Given the description of an element on the screen output the (x, y) to click on. 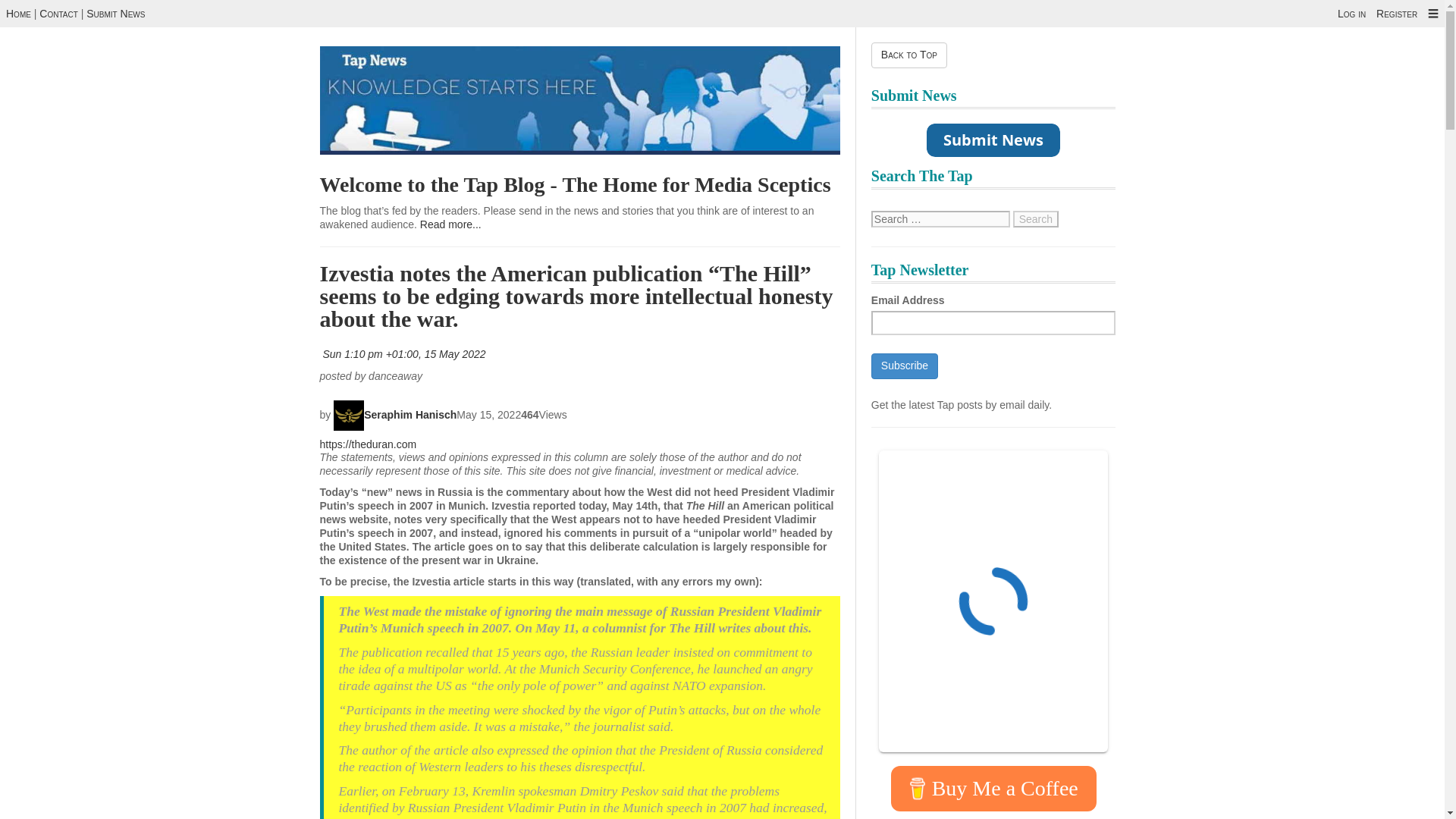
Posts by Seraphim Hanisch (395, 414)
Permanent Link to Welcome to The Tap Blog (575, 184)
Log in (1351, 13)
Search (1035, 218)
Back to Top (908, 54)
Contact (58, 13)
Register (1395, 13)
Home (17, 13)
Search (1035, 218)
Seraphim Hanisch (395, 414)
Contact Us (114, 13)
Read more... (450, 224)
Submit News (114, 13)
Home (17, 13)
Welcome to the Tap Blog - The Home for Media Sceptics (575, 184)
